Given the description of an element on the screen output the (x, y) to click on. 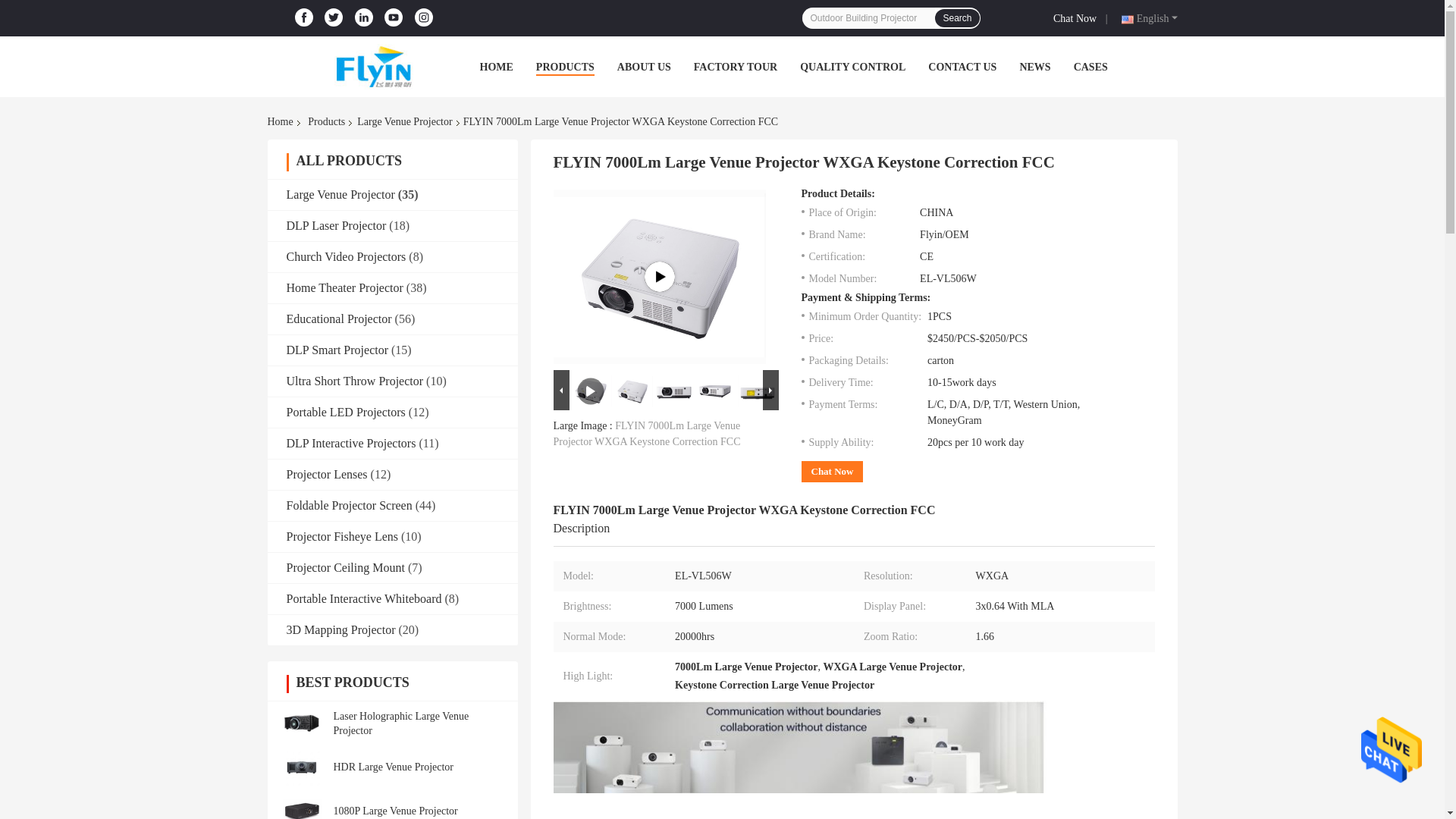
NEWS (1034, 66)
CASES (1091, 66)
Shenzhen Flyin Technology Co.,Limited Twitter (333, 17)
Shenzhen Flyin Technology Co.,Limited Facebook (303, 17)
Home (282, 121)
Search (956, 18)
ABOUT US (644, 66)
QUALITY CONTROL (852, 66)
Shenzhen Flyin Technology Co.,Limited LinkedIn (363, 17)
CONTACT US (961, 66)
